Given the description of an element on the screen output the (x, y) to click on. 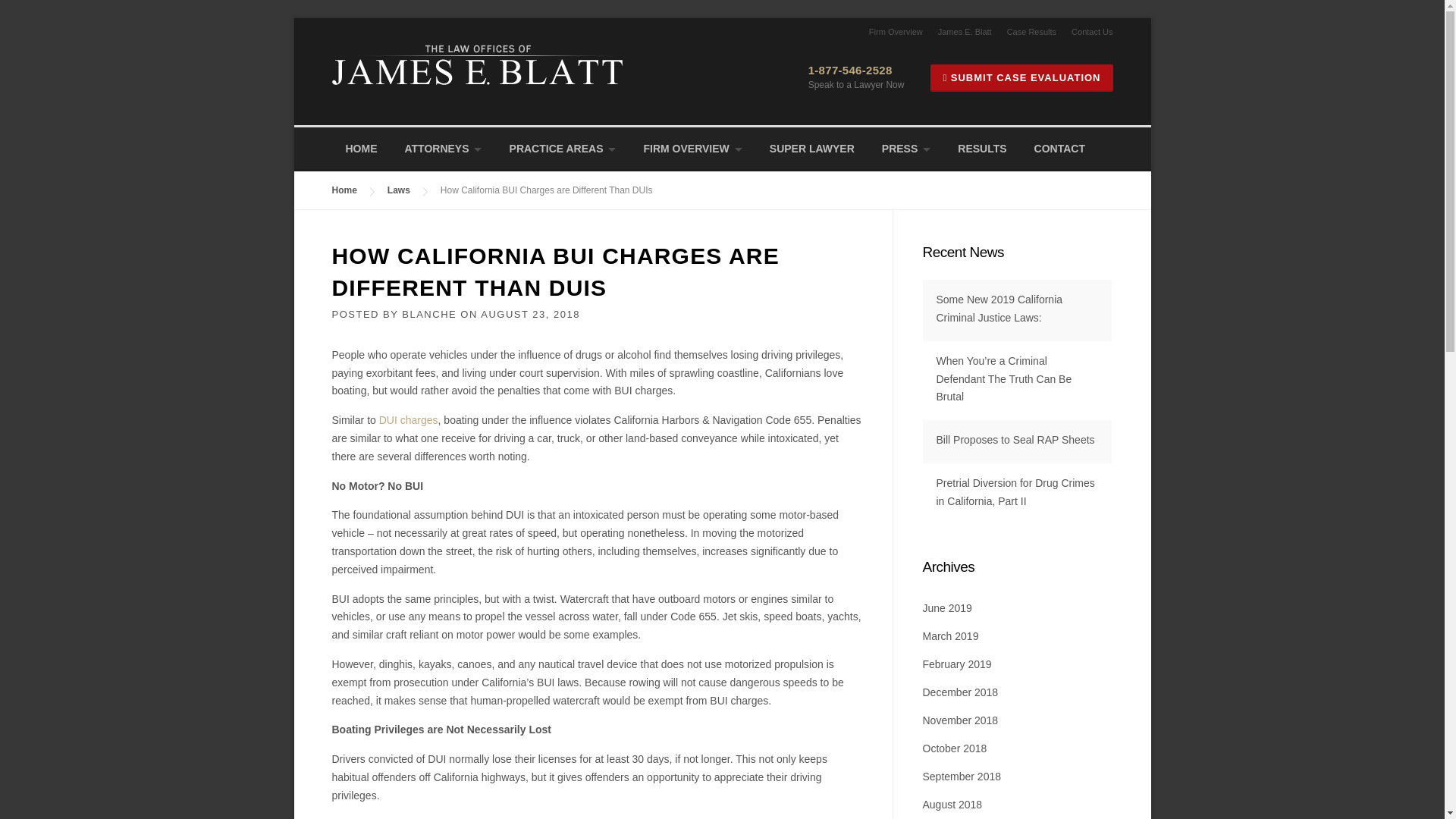
HOME (361, 149)
SUBMIT CASE EVALUATION (1021, 77)
Bill Proposes to Seal RAP Sheets (1015, 439)
PRACTICE AREAS (563, 149)
Firm Overview (888, 31)
Go to Los Angeles Criminal Defense Attorneys. (343, 190)
Contact Us (1084, 31)
Some New 2019 California Criminal Justice Laws: (999, 308)
1-877-546-2528 (850, 69)
ATTORNEYS (443, 149)
Pretrial Diversion for Drug Crimes in California, Part II (1015, 491)
Case Results (1024, 31)
Los Angeles Criminal Defense Attorneys (478, 64)
James E. Blatt (957, 31)
